Given the description of an element on the screen output the (x, y) to click on. 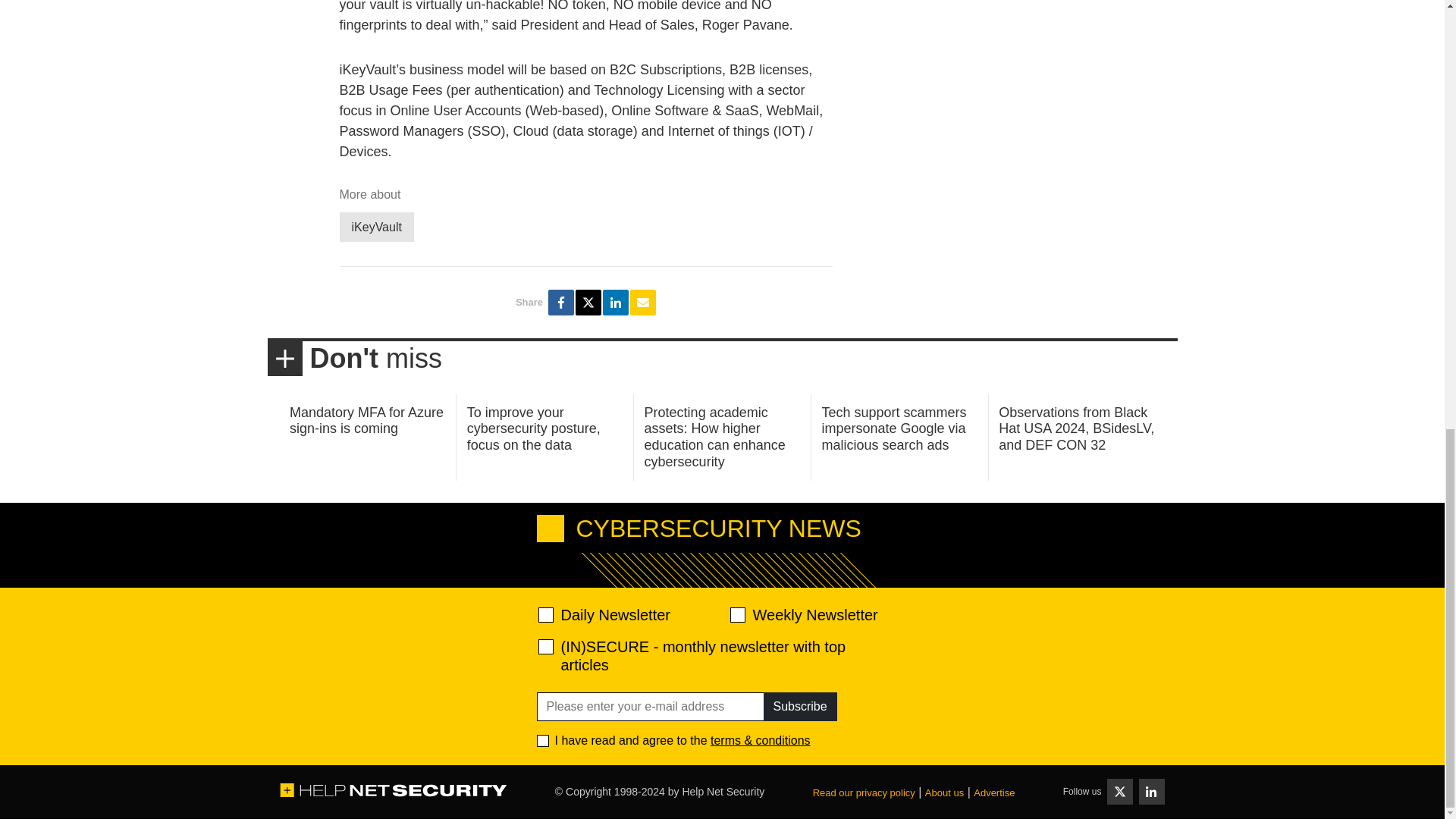
To improve your cybersecurity posture, focus on the data (533, 428)
iKeyVault (376, 226)
iKeyVault (376, 226)
1 (542, 740)
Mandatory MFA for Azure sign-ins is coming (366, 420)
d2d471aafa (736, 614)
